Given the description of an element on the screen output the (x, y) to click on. 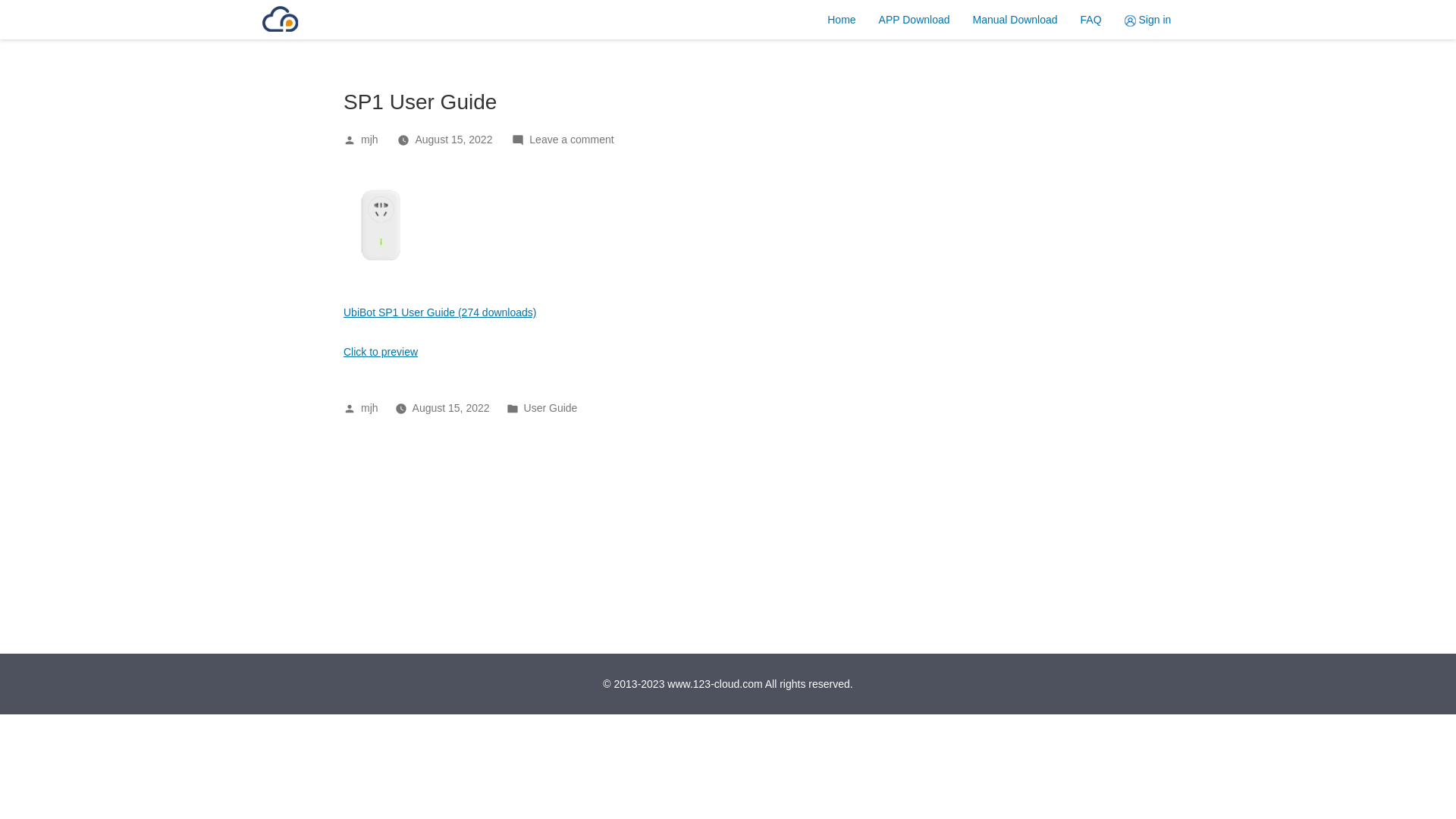
mjh Element type: text (369, 139)
Click to preview Element type: text (380, 351)
mjh Element type: text (369, 407)
August 15, 2022 Element type: text (453, 139)
User Guide Element type: text (550, 407)
Leave a comment
on SP1 User Guide Element type: text (571, 139)
Home Element type: text (840, 19)
UbiBot SP1 User Guide (274 downloads) Element type: text (439, 312)
August 15, 2022 Element type: text (450, 407)
 Sign in Element type: text (1148, 19)
Manual Download Element type: text (1015, 19)
FAQ Element type: text (1091, 19)
APP Download Element type: text (914, 19)
